Given the description of an element on the screen output the (x, y) to click on. 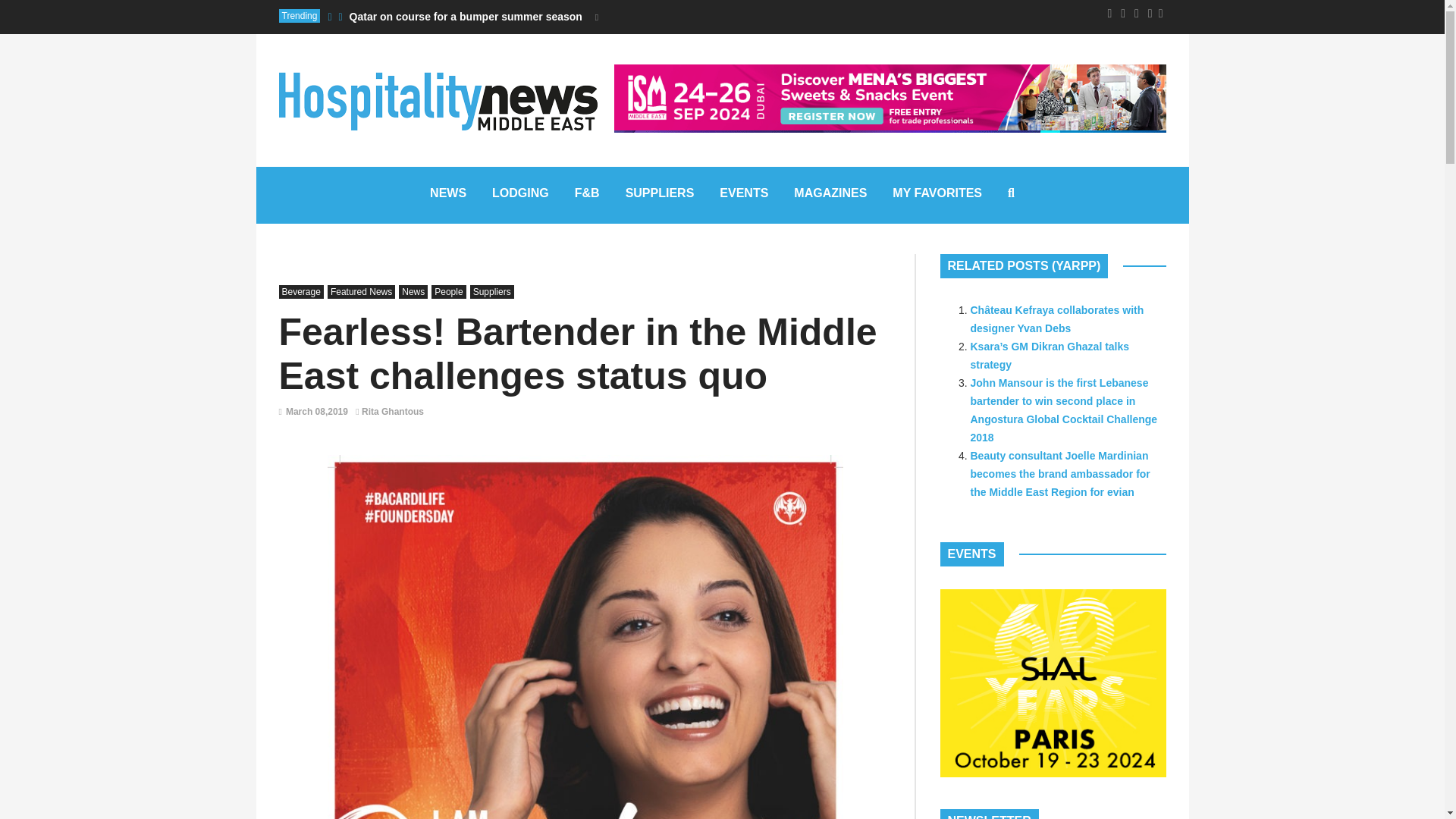
Trending (299, 15)
Lodging (520, 195)
Search (701, 378)
Qatar on course for a bumper summer season (465, 16)
News (447, 195)
